Given the description of an element on the screen output the (x, y) to click on. 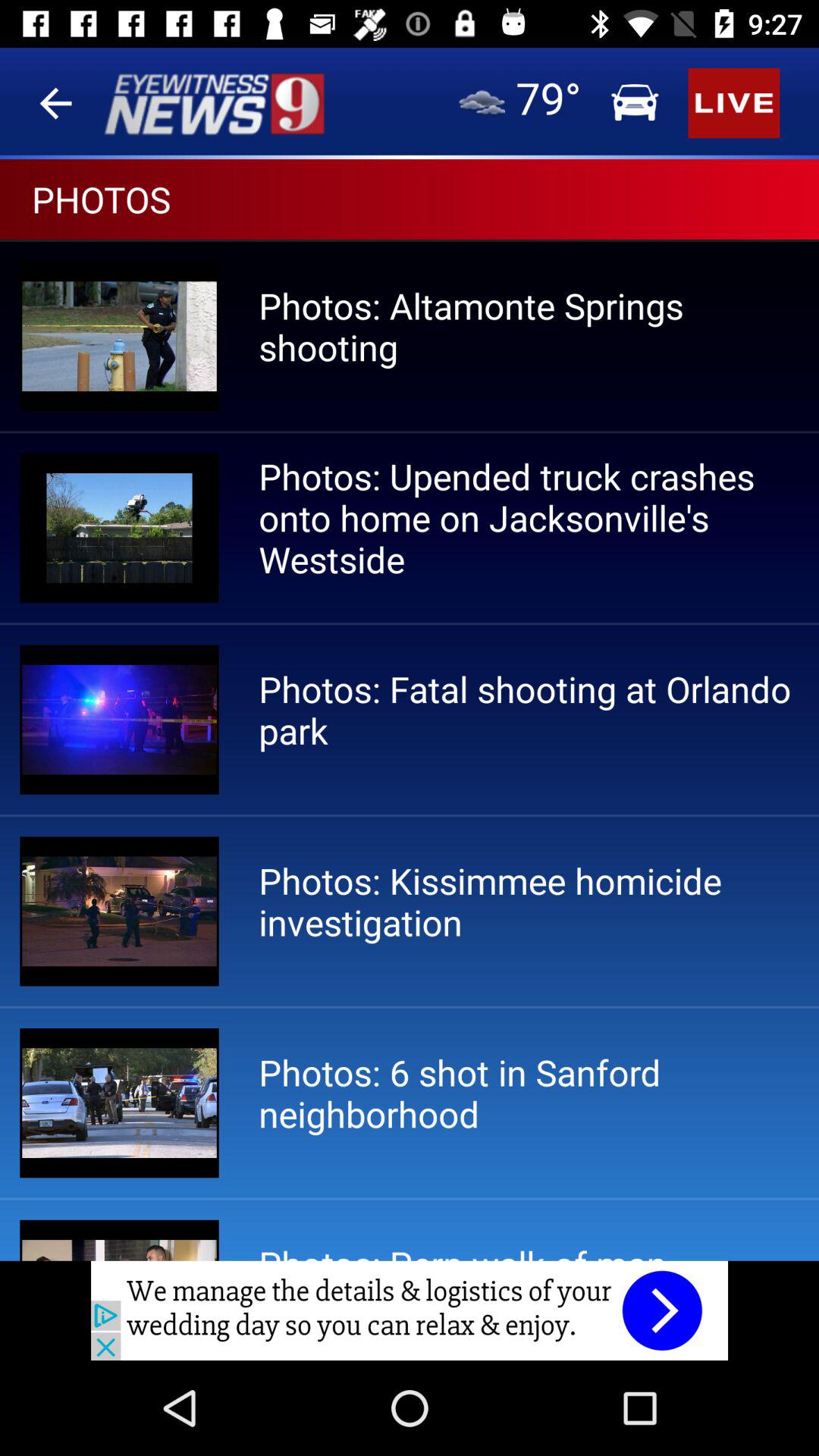
select sixth photo (119, 1240)
